Given the description of an element on the screen output the (x, y) to click on. 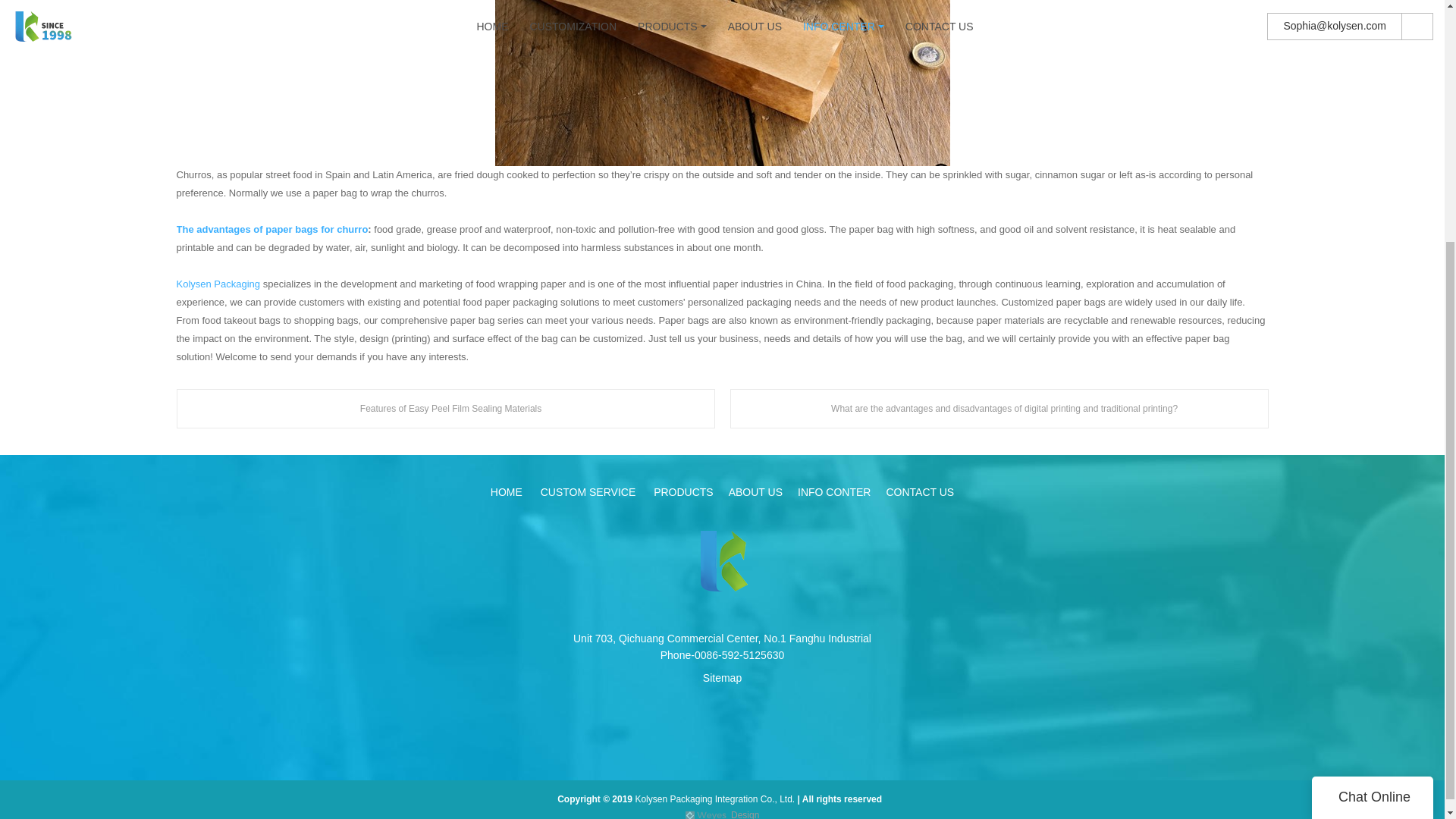
Kraft Churros Food Paper Bag (722, 83)
Features of Easy Peel Film Sealing Materials (445, 408)
Kolysen Packaging (219, 283)
The advantages of paper bags for churro (272, 229)
